Given the description of an element on the screen output the (x, y) to click on. 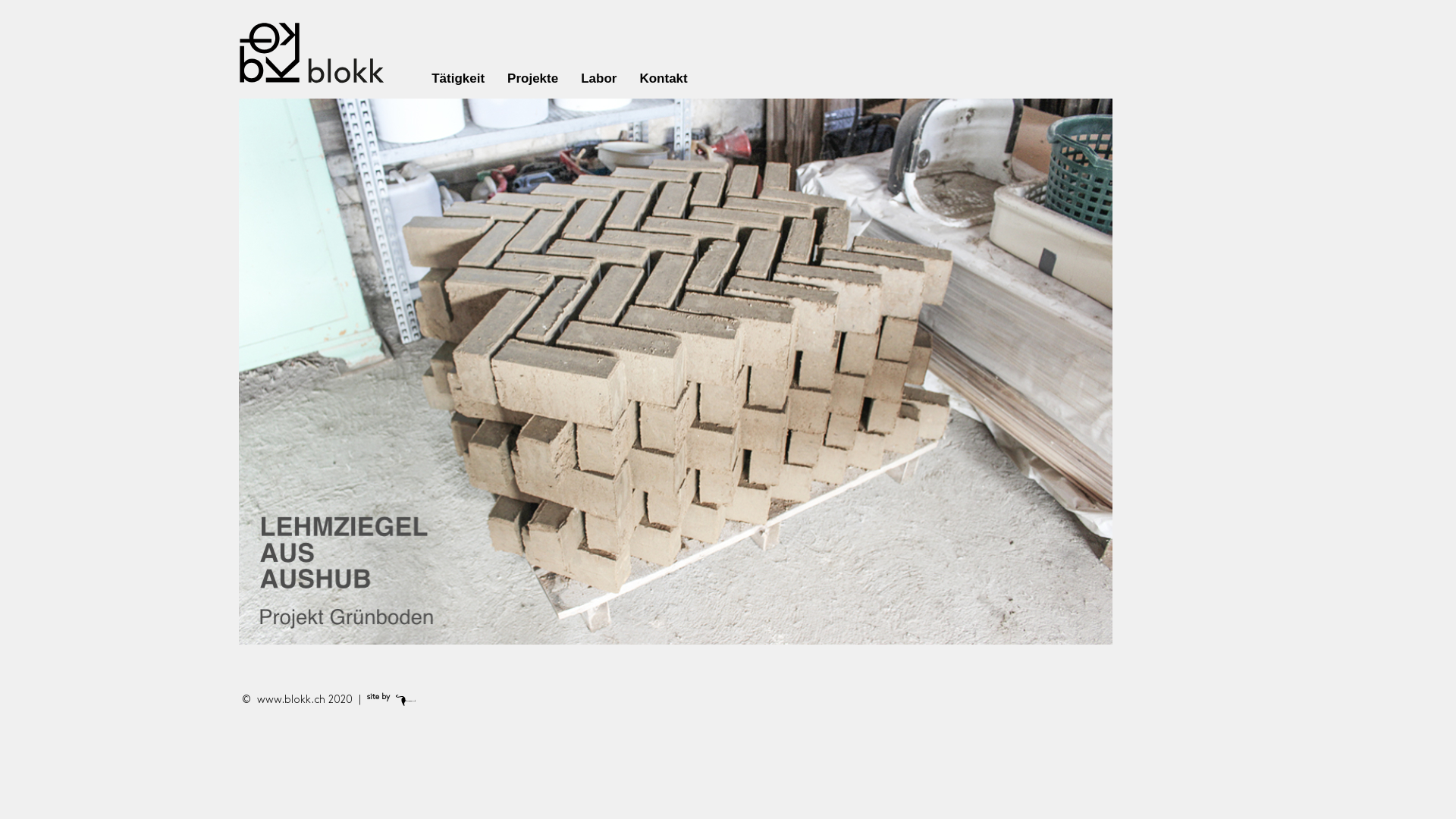
 (1/2) Element type: hover (675, 371)
Projekte Element type: text (532, 78)
Kontakt Element type: text (657, 78)
Labor Element type: text (598, 78)
